Given the description of an element on the screen output the (x, y) to click on. 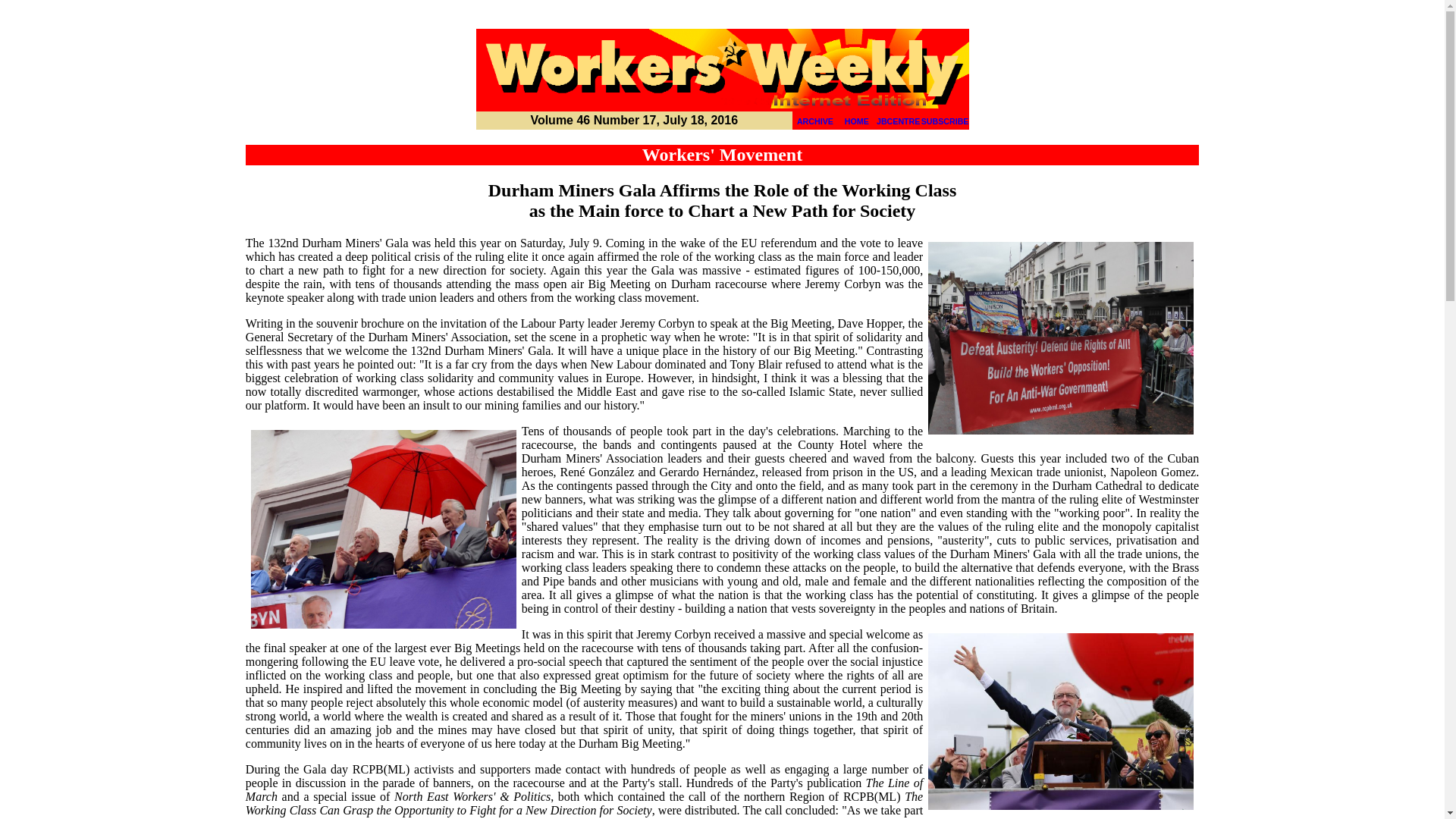
JBCENTRE (898, 121)
HOME (856, 121)
ARCHIVE (814, 121)
